Given the description of an element on the screen output the (x, y) to click on. 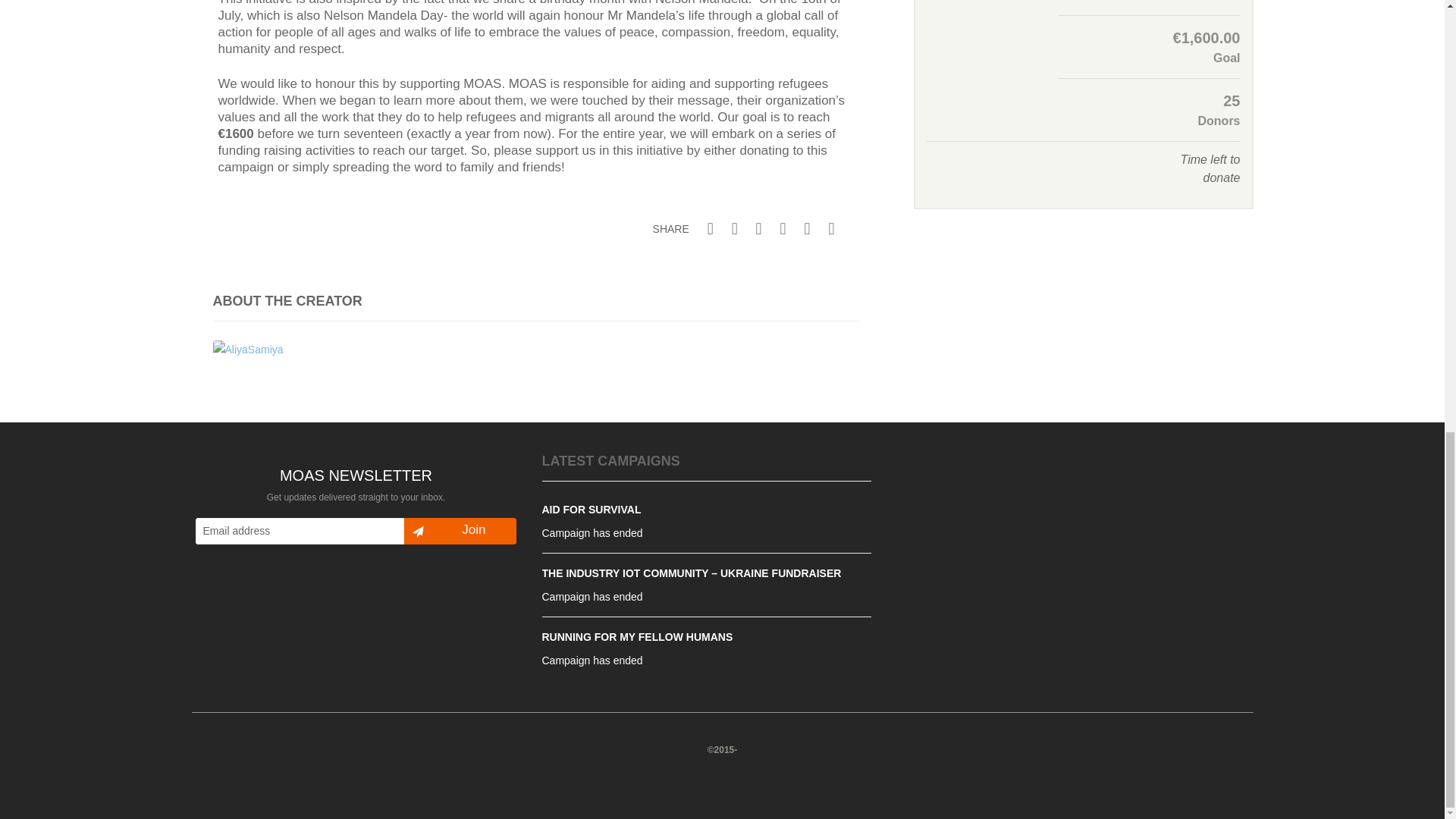
RUNNING FOR MY FELLOW HUMANS (636, 636)
AID FOR SURVIVAL (590, 509)
